Given the description of an element on the screen output the (x, y) to click on. 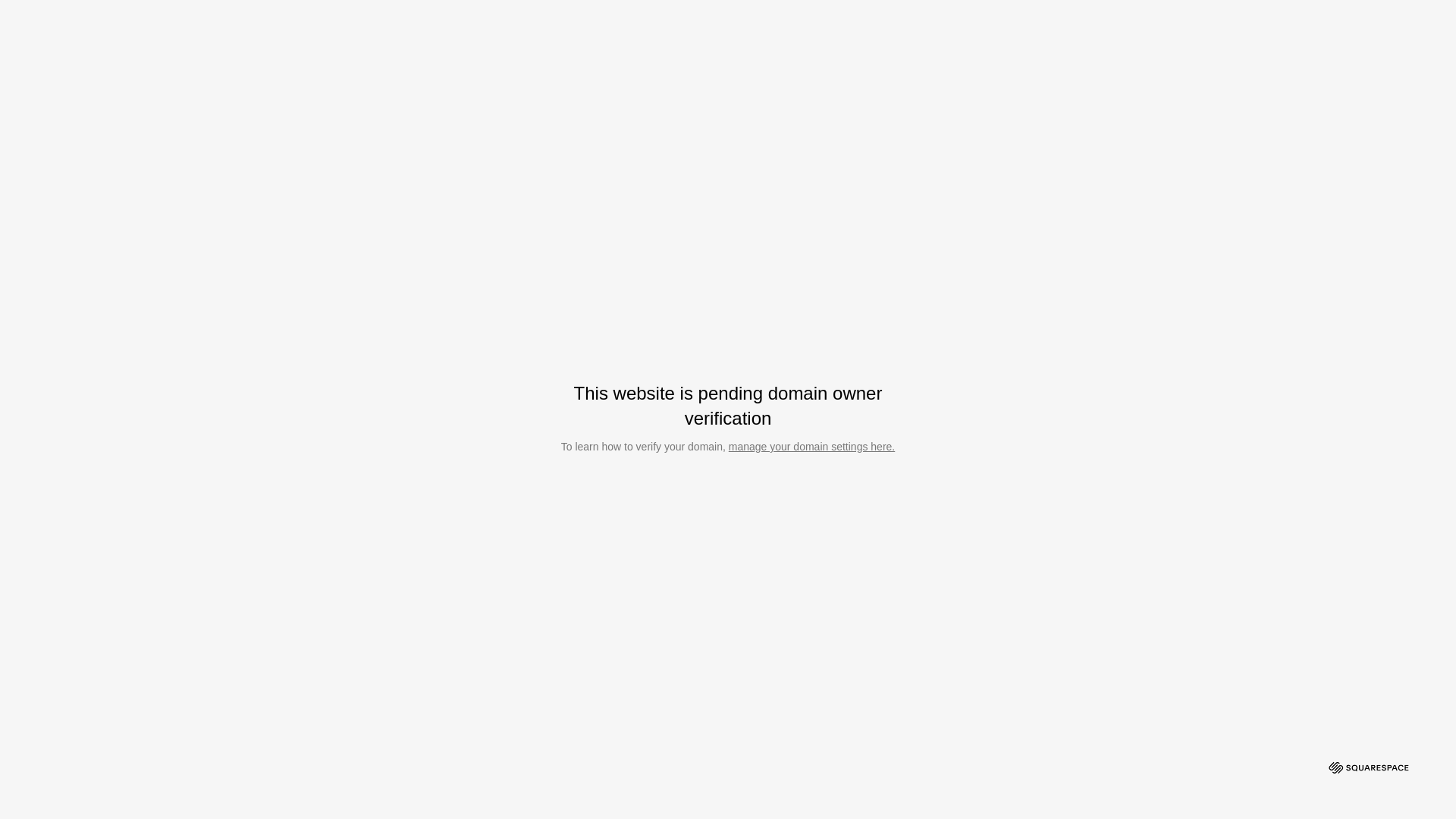
manage your domain settings here. Element type: text (811, 446)
